Given the description of an element on the screen output the (x, y) to click on. 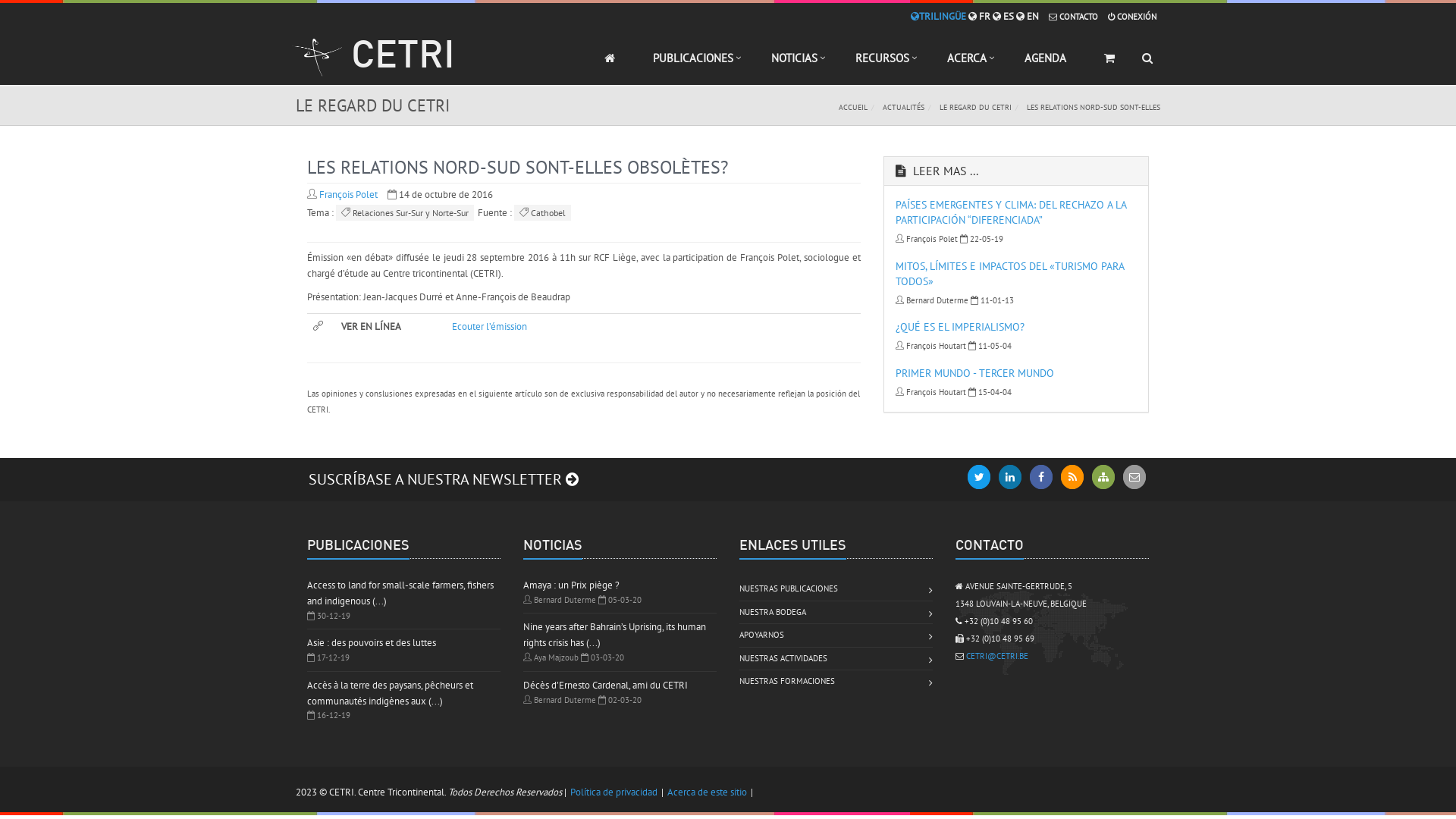
NUESTRAS FORMACIONES Element type: text (786, 681)
FR Element type: text (979, 15)
Boutique Element type: hover (1109, 64)
PUBLICACIONES Element type: text (692, 64)
ES Element type: text (1002, 15)
NOTICIAS Element type: text (794, 64)
NUESTRAS PUBLICACIONES Element type: text (788, 588)
AGENDA Element type: text (1045, 64)
CETRI Element type: text (373, 61)
NUESTRAS ACTIVIDADES Element type: text (783, 658)
Acerca de este sitio Element type: text (706, 791)
CETRI@CETRI.BE Element type: text (997, 655)
Relaciones Sur-Sur y Norte-Sur Element type: text (404, 212)
ACCUEIL Element type: text (852, 107)
EN Element type: text (1027, 15)
NUESTRA BODEGA Element type: text (772, 612)
Cathobel Element type: text (542, 212)
CONTACTO Element type: text (1073, 16)
APOYARNOS Element type: text (761, 635)
Asie : des pouvoirs et des luttes Element type: text (371, 642)
RECURSOS Element type: text (882, 64)
PRIMER MUNDO - TERCER MUNDO Element type: text (974, 372)
Portada Element type: hover (609, 64)
LE REGARD DU CETRI Element type: text (975, 107)
ACERCA Element type: text (966, 64)
